Given the description of an element on the screen output the (x, y) to click on. 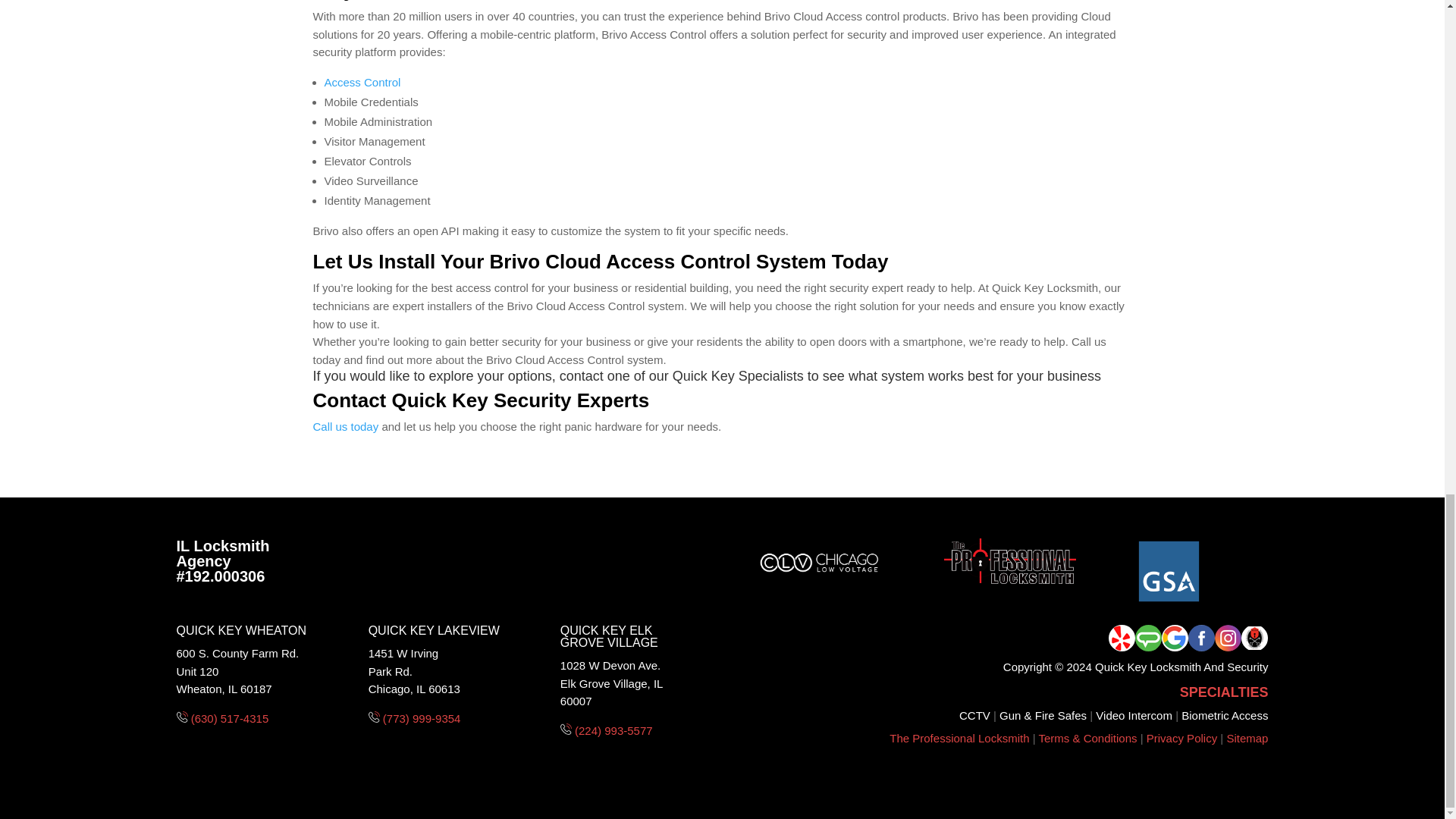
ChicagoLowVoltage-Logo (817, 561)
GSA Logo (1168, 571)
